Given the description of an element on the screen output the (x, y) to click on. 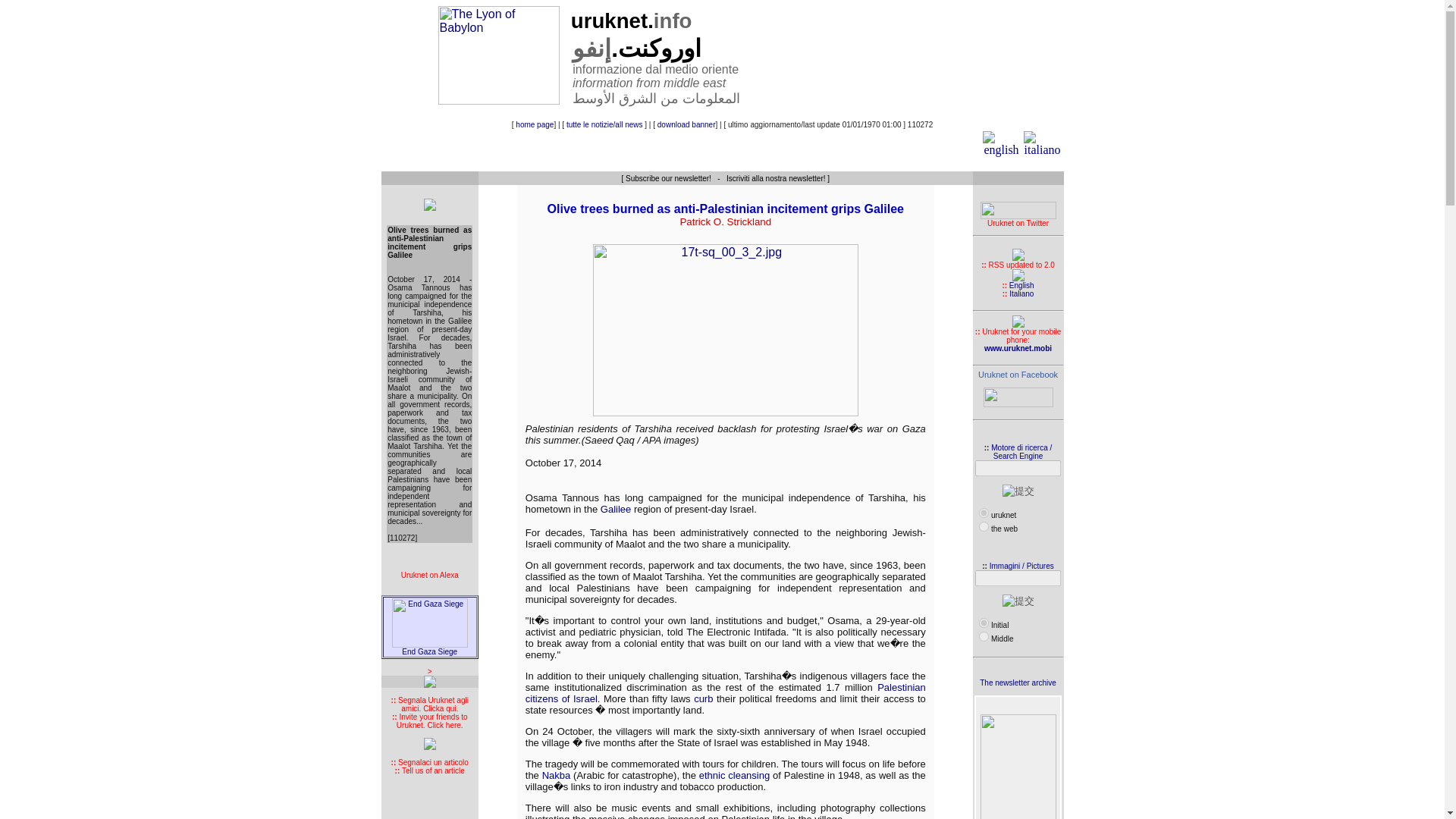
Uruknet on Alexa (429, 578)
I (983, 623)
g (983, 526)
End Gaza Siege (429, 648)
home page (534, 124)
curb (703, 698)
ethnic cleansing (734, 775)
Palestinian citizens of Israel (725, 692)
u (983, 512)
Galilee (614, 509)
  uruknet.info (626, 23)
UrukNet.info (1018, 374)
